Given the description of an element on the screen output the (x, y) to click on. 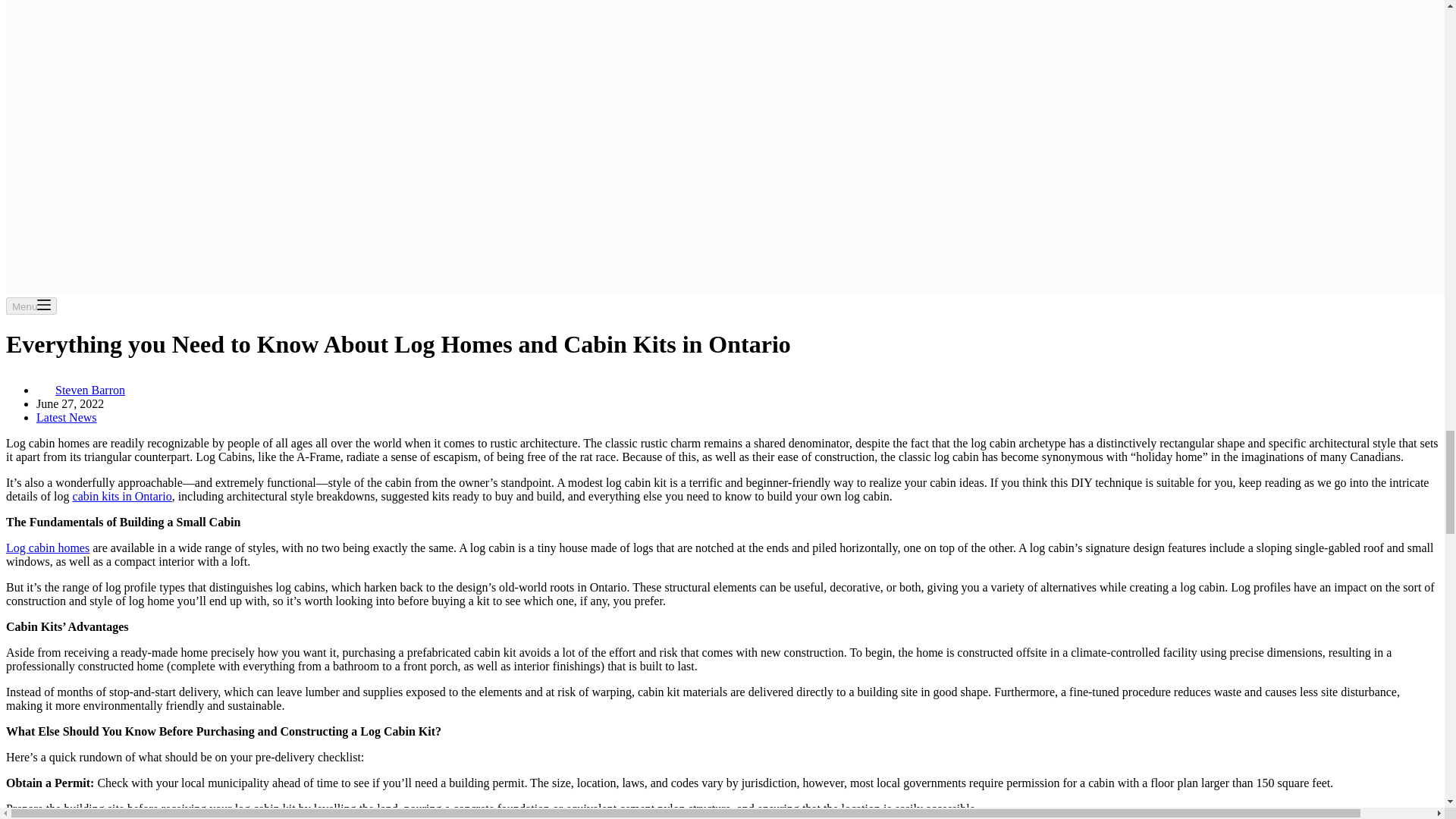
Posts by Steven Barron (90, 390)
